Given the description of an element on the screen output the (x, y) to click on. 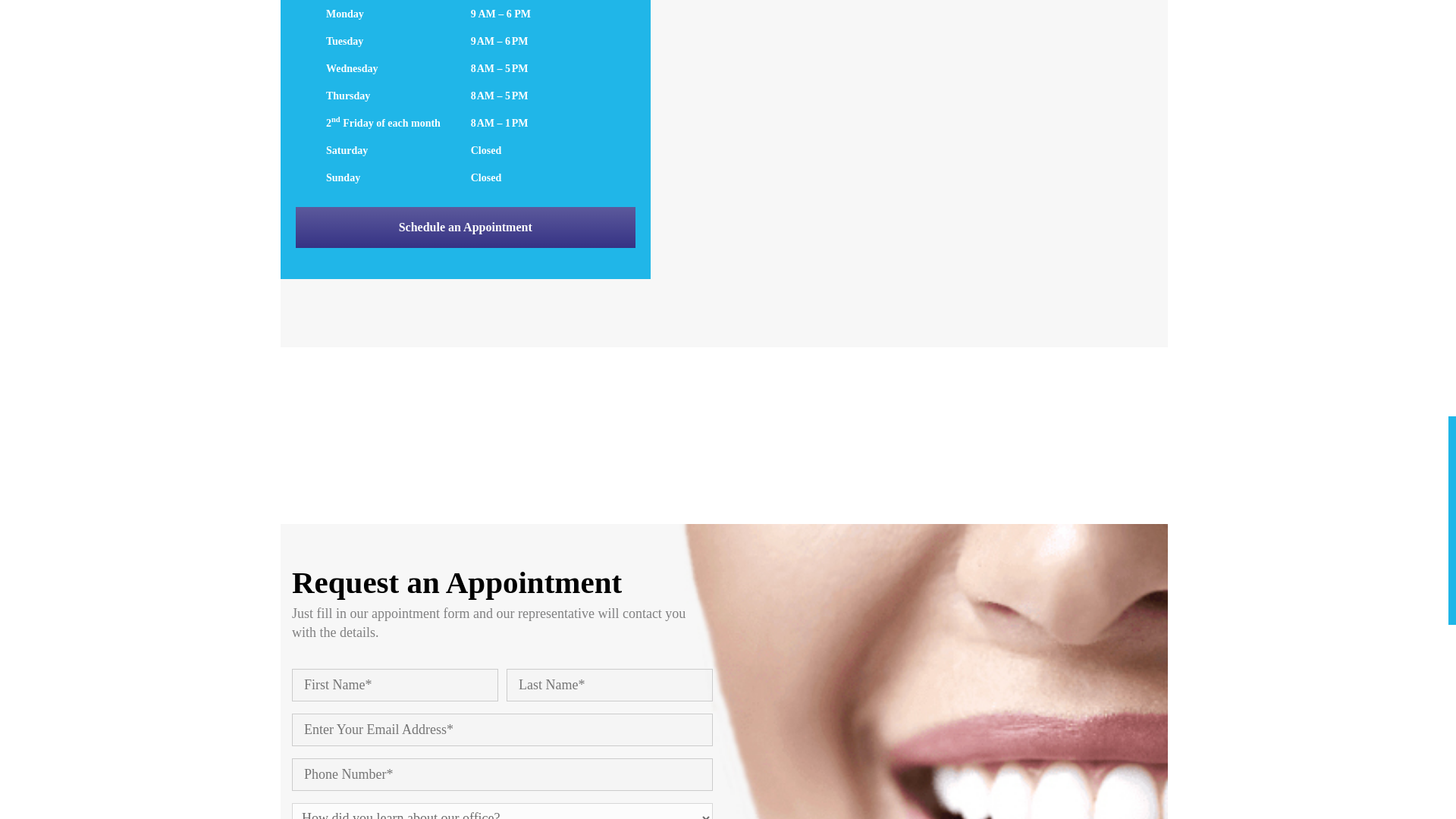
ocds (834, 447)
American Dental Association Logo (390, 447)
cda (613, 447)
Pacific (1057, 447)
